Given the description of an element on the screen output the (x, y) to click on. 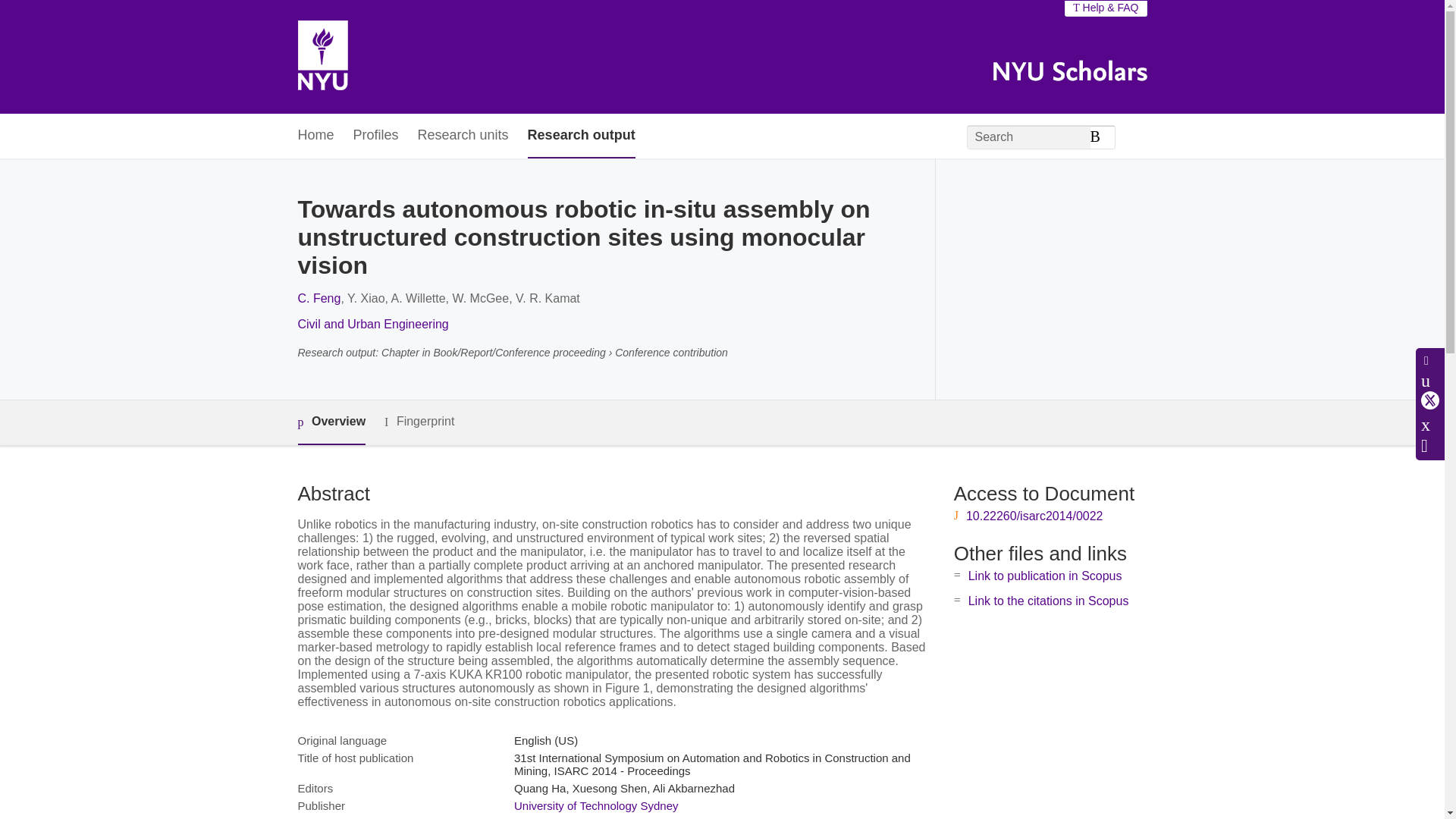
Civil and Urban Engineering (372, 323)
Link to the citations in Scopus (1048, 600)
Profiles (375, 135)
Home (315, 135)
Fingerprint (419, 421)
NYU Scholars Home (322, 56)
Research output (580, 135)
Overview (331, 422)
University of Technology Sydney (595, 805)
Research units (462, 135)
Link to publication in Scopus (1045, 575)
C. Feng (318, 297)
